Given the description of an element on the screen output the (x, y) to click on. 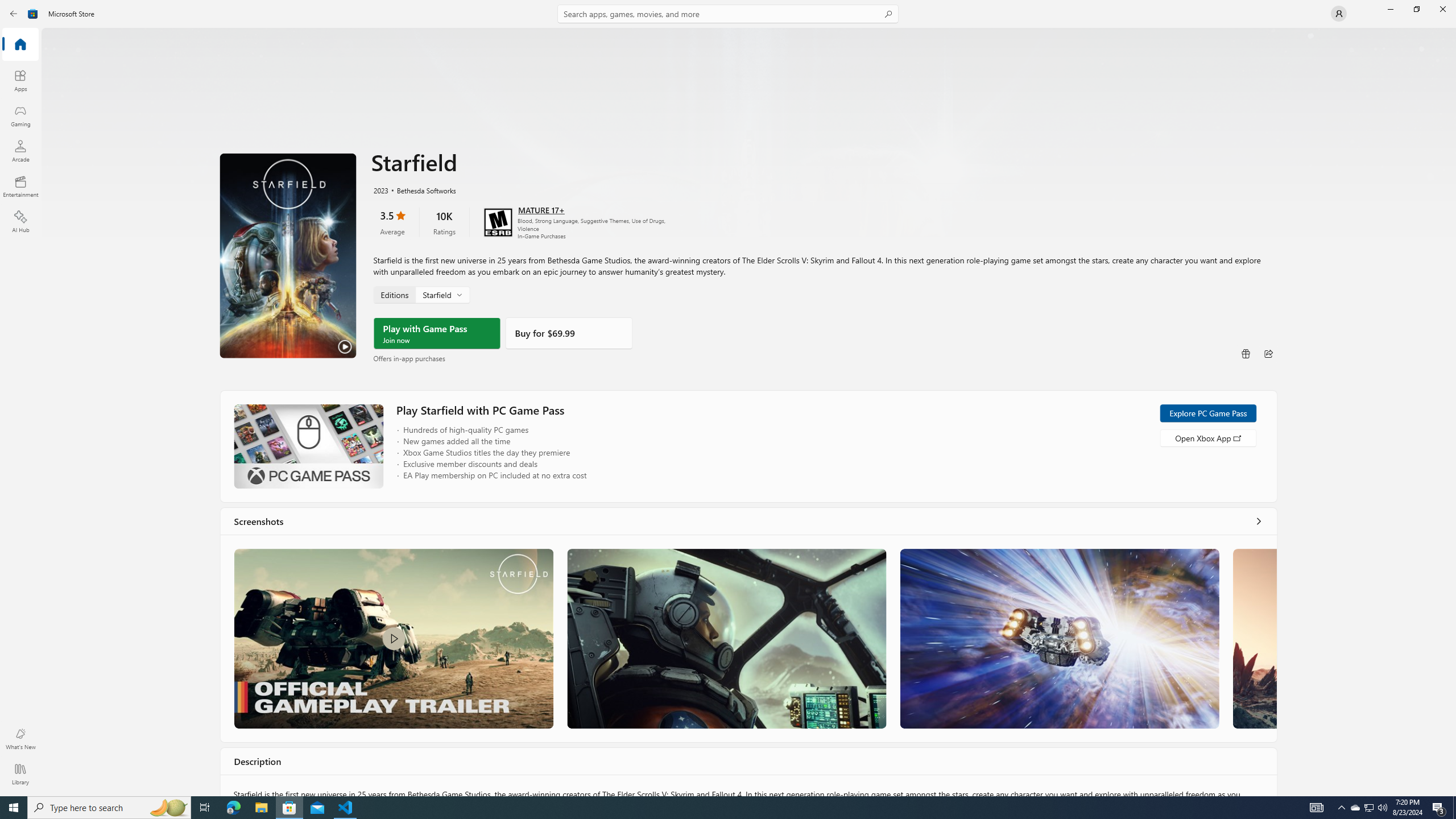
Gaming (20, 115)
Share (1267, 353)
Restore Microsoft Store (1416, 9)
